Given the description of an element on the screen output the (x, y) to click on. 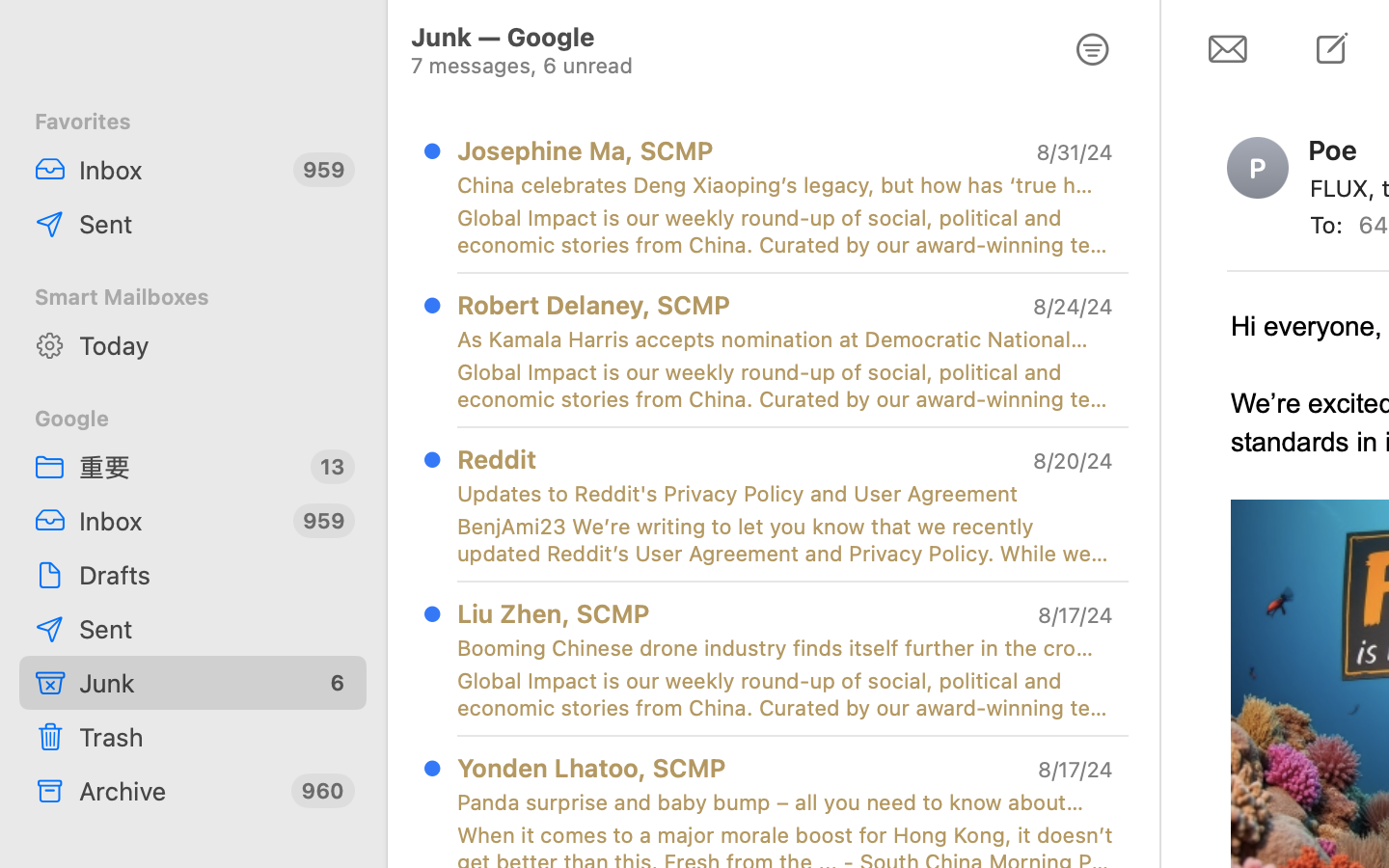
Global Impact is our weekly round-up of social, political and economic stories from China. Curated by our award-winning team of ... - South China Morning Post, SCMP, Global Impact - Global Impact is our weekly round-up of social, political and economic stories from China. Curated by our award-winning team of ... This newsletter is now only available to our digital subscribers. Subscribe to a 1-year plan with a 25% discount for the first year to continue to receive this newsletter along with unlimited access to SCMP.com. Was this newsletter forwarded to you? Sign up here China politics & diplomacy Harris-Walz in the spotlight over China ties as Democratic National Convention rubber-stamps ticket Andrew Mullen Deputy Editor, Political Economy 24 August 2024 Global Impact is our weekly round-up of social, political and economic stories from China. Curated by our award-winning team of journalists, this must-read newsletter explores the impact and significance of those stories around the gl Element type: AXStaticText (784, 385)
Updates to Reddit's Privacy Policy and User Agreement Element type: AXStaticText (777, 493)
Sent Element type: AXStaticText (214, 628)
Booming Chinese drone industry finds itself further in the cross hairs of escalating US tech war Element type: AXStaticText (777, 647)
Smart Mailboxes Element type: AXStaticText (192, 296)
